Given the description of an element on the screen output the (x, y) to click on. 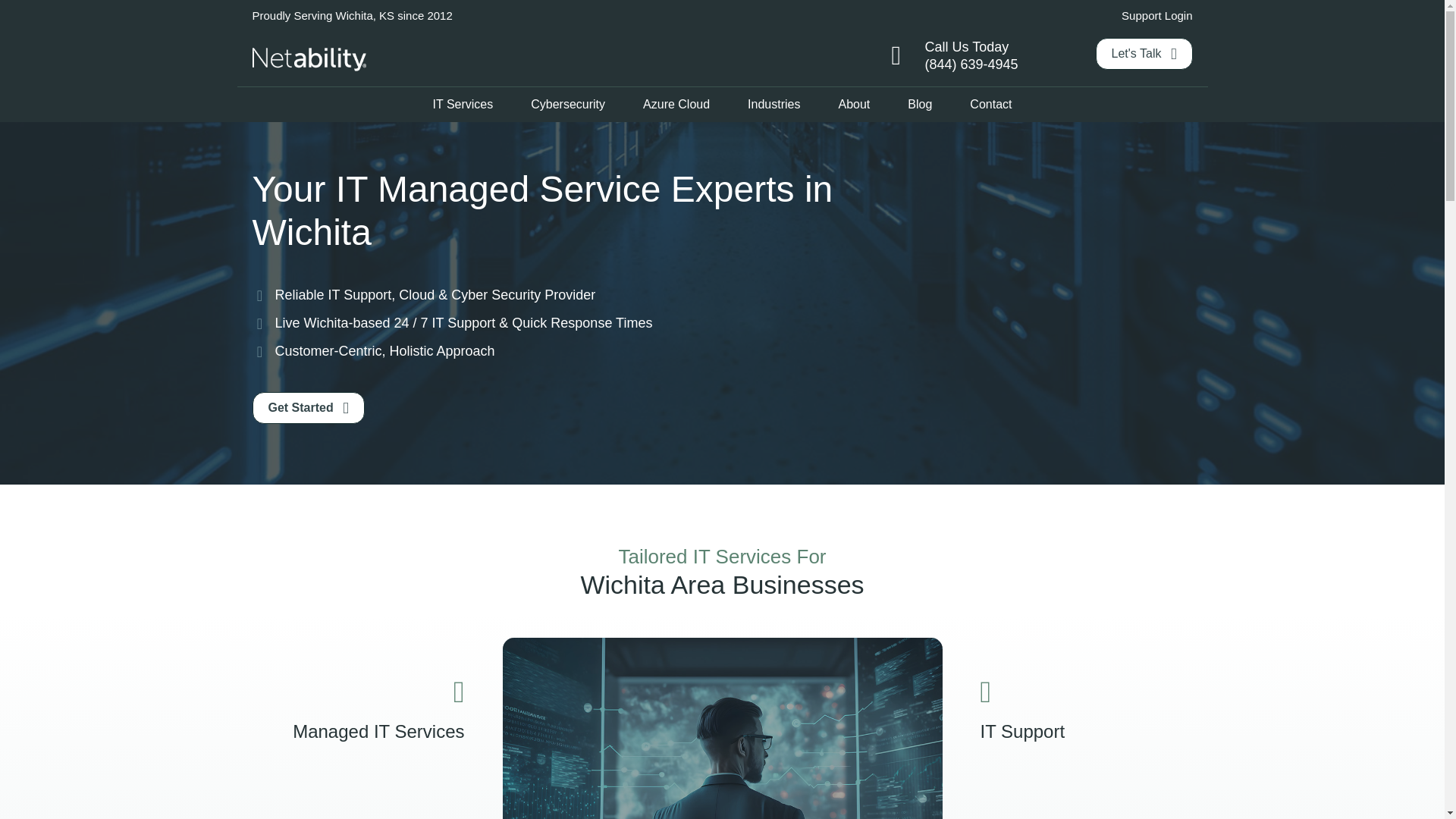
Industries (773, 103)
Azure Cloud (676, 103)
About (853, 103)
Contact (990, 103)
Support Login (1156, 15)
Let's Talk (1144, 53)
Blog (919, 103)
Cybersecurity (567, 103)
IT Services (462, 103)
